Given the description of an element on the screen output the (x, y) to click on. 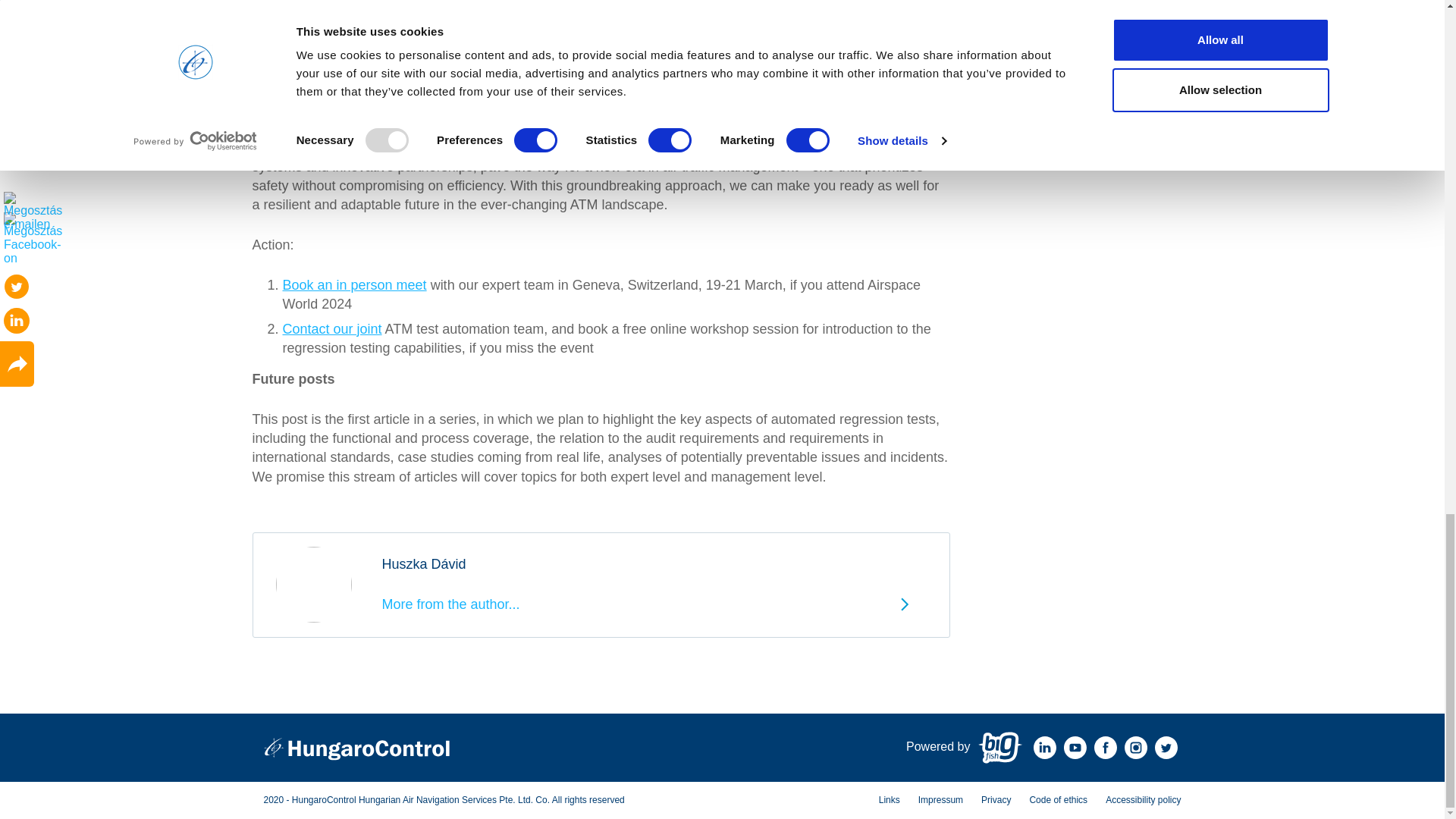
instagram (1135, 747)
BIG FISH (1000, 747)
youtube (1074, 747)
facebook (1104, 747)
twitter (1165, 747)
linkedin (1043, 747)
